Given the description of an element on the screen output the (x, y) to click on. 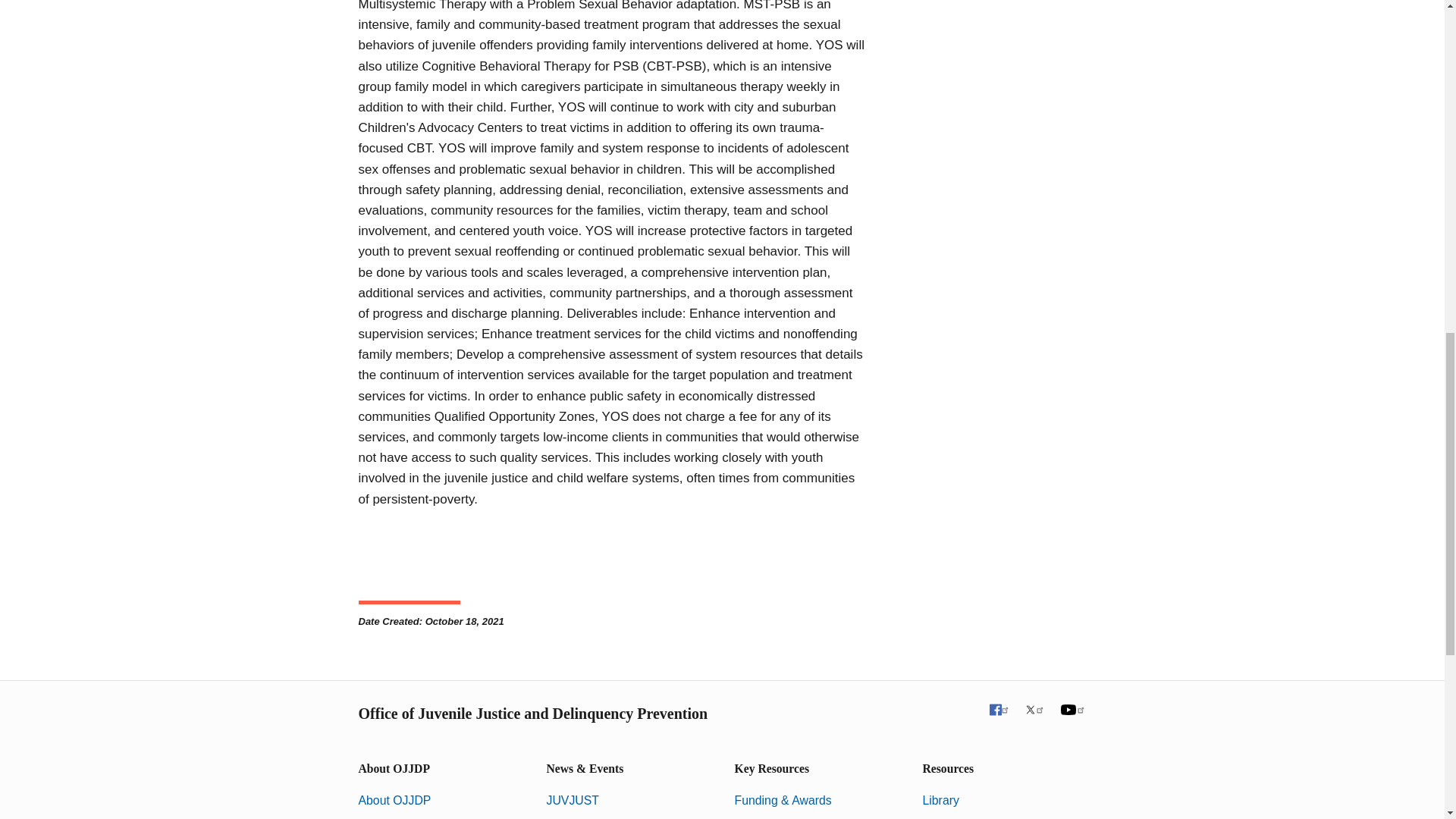
JUVJUST (572, 799)
About OJJDP (394, 799)
